Given the description of an element on the screen output the (x, y) to click on. 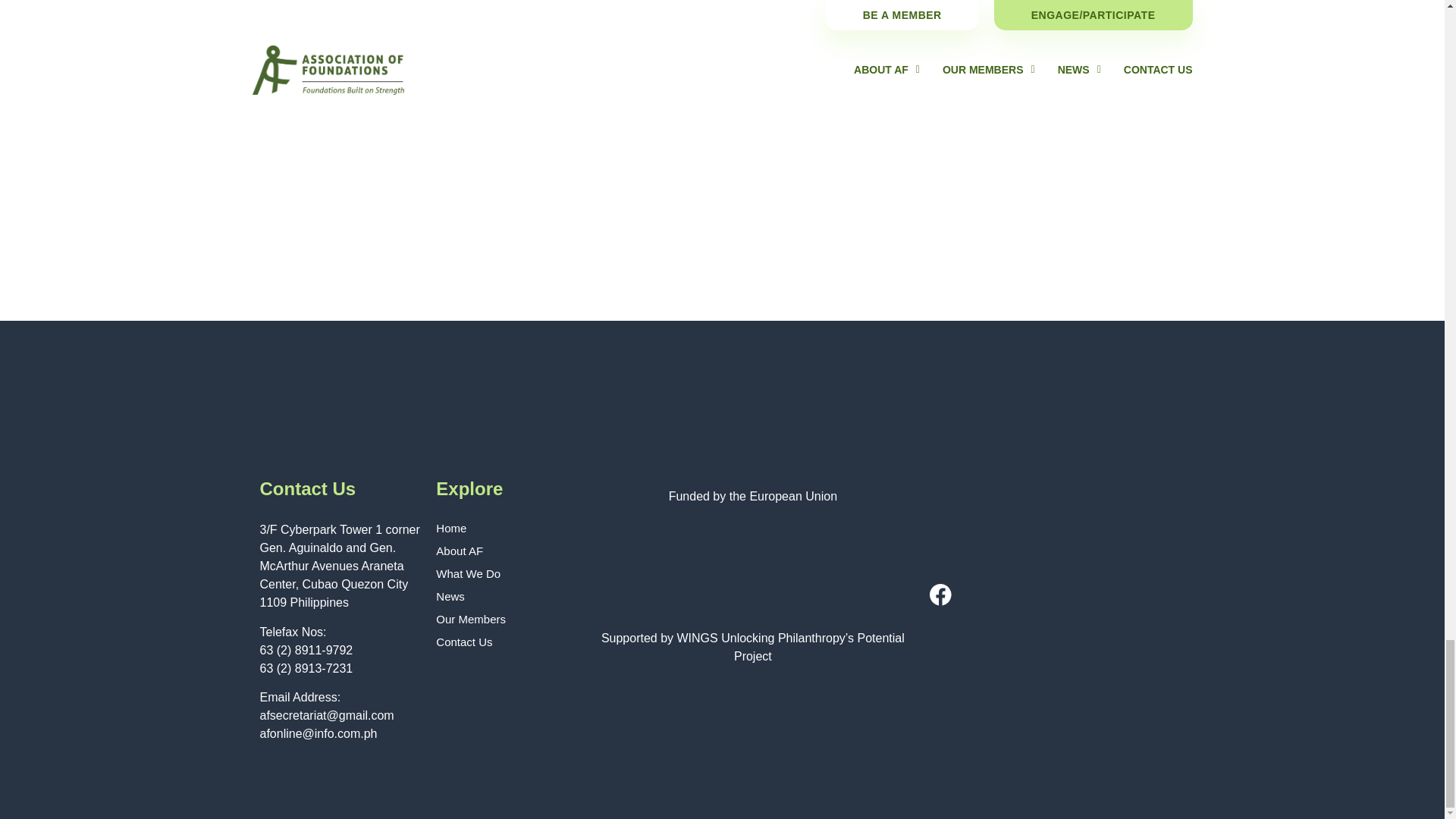
Home (505, 528)
News (505, 596)
Our Members (505, 619)
What We Do (505, 573)
About AF (505, 550)
